Given the description of an element on the screen output the (x, y) to click on. 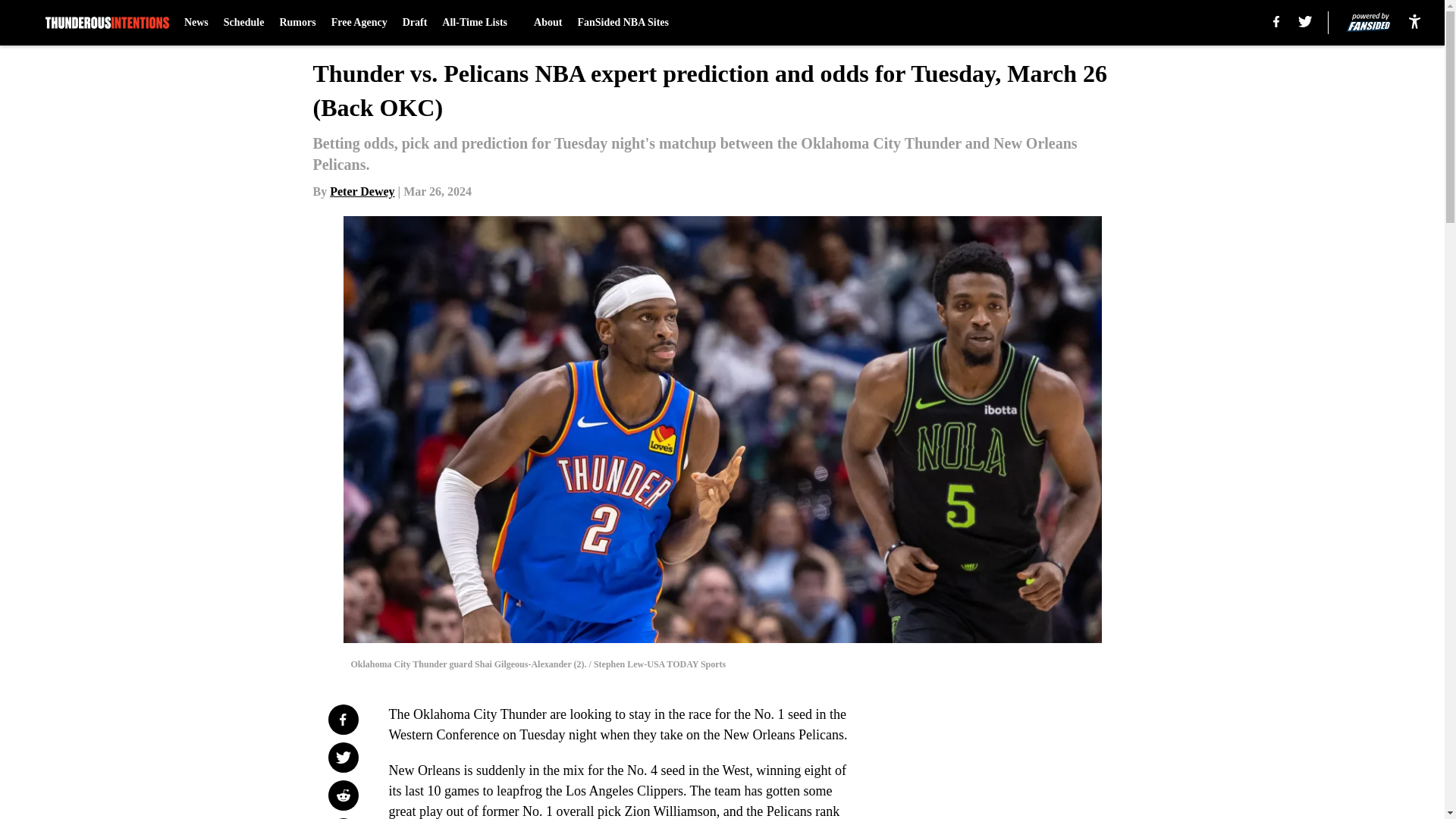
All-Time Lists (480, 22)
FanSided NBA Sites (622, 22)
Draft (415, 22)
About (548, 22)
Schedule (244, 22)
Peter Dewey (362, 191)
Rumors (297, 22)
News (196, 22)
Free Agency (359, 22)
